Given the description of an element on the screen output the (x, y) to click on. 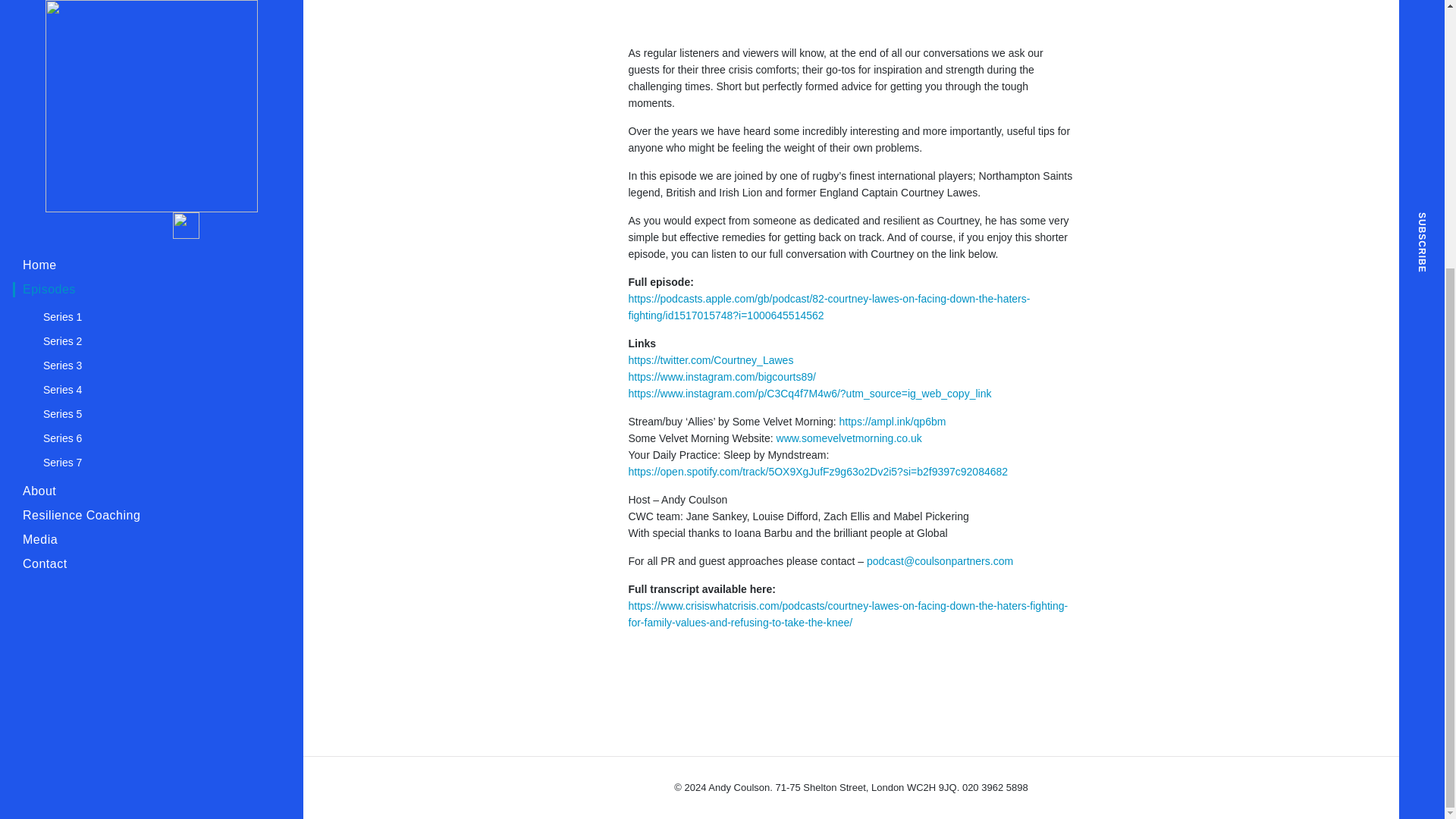
Contact (141, 174)
Resilience Coaching (141, 125)
About (141, 101)
Series 4 (149, 6)
Series 5 (149, 24)
www.somevelvetmorning.co.uk (848, 438)
Series 6 (149, 48)
Media (141, 150)
Series 7 (149, 72)
